Given the description of an element on the screen output the (x, y) to click on. 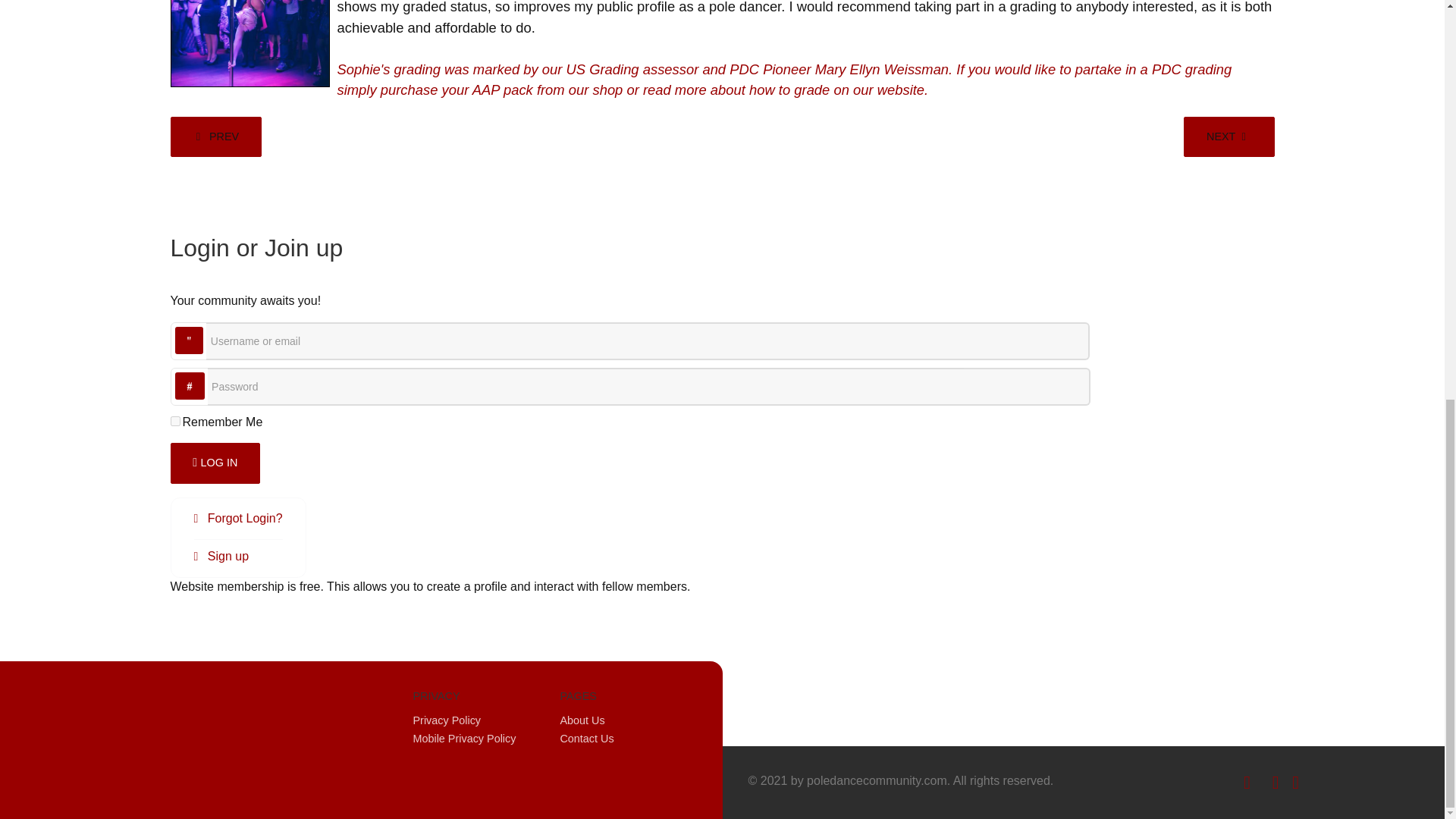
How to grade (789, 89)
About Us (581, 720)
Privacy Policy (446, 720)
Contact Us (585, 738)
Forgot Login? (237, 518)
purchase your AAP pack from our shop (501, 89)
LOG IN (215, 463)
Privacy Policy (446, 720)
PDC Pioneer Mary Ellyn Weissman (839, 68)
PREV (215, 137)
NEXT (1228, 137)
yes (174, 420)
About Us (581, 720)
Mobile Privacy Policy (463, 738)
how to grade (789, 89)
